Given the description of an element on the screen output the (x, y) to click on. 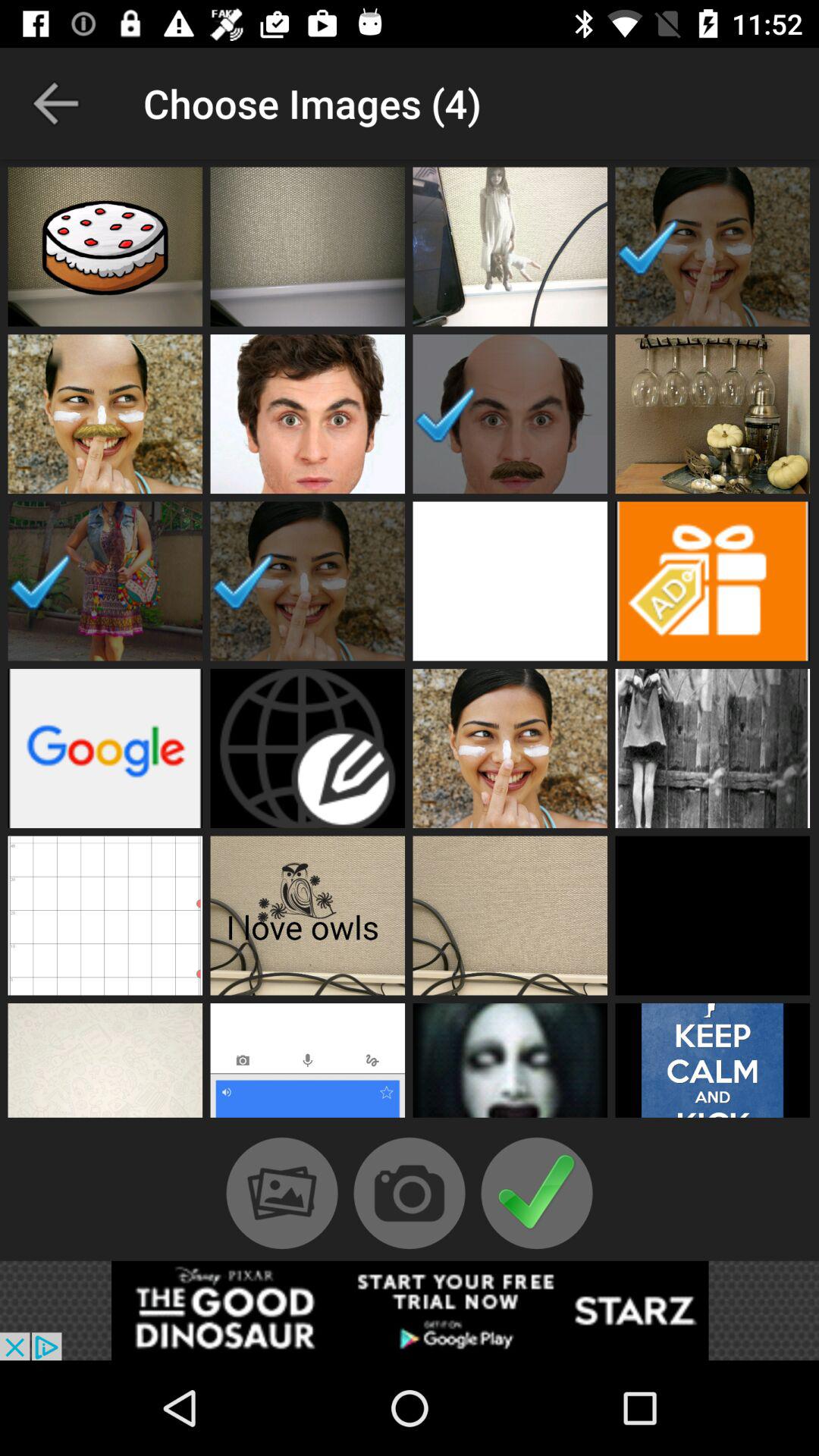
google image (104, 748)
